Given the description of an element on the screen output the (x, y) to click on. 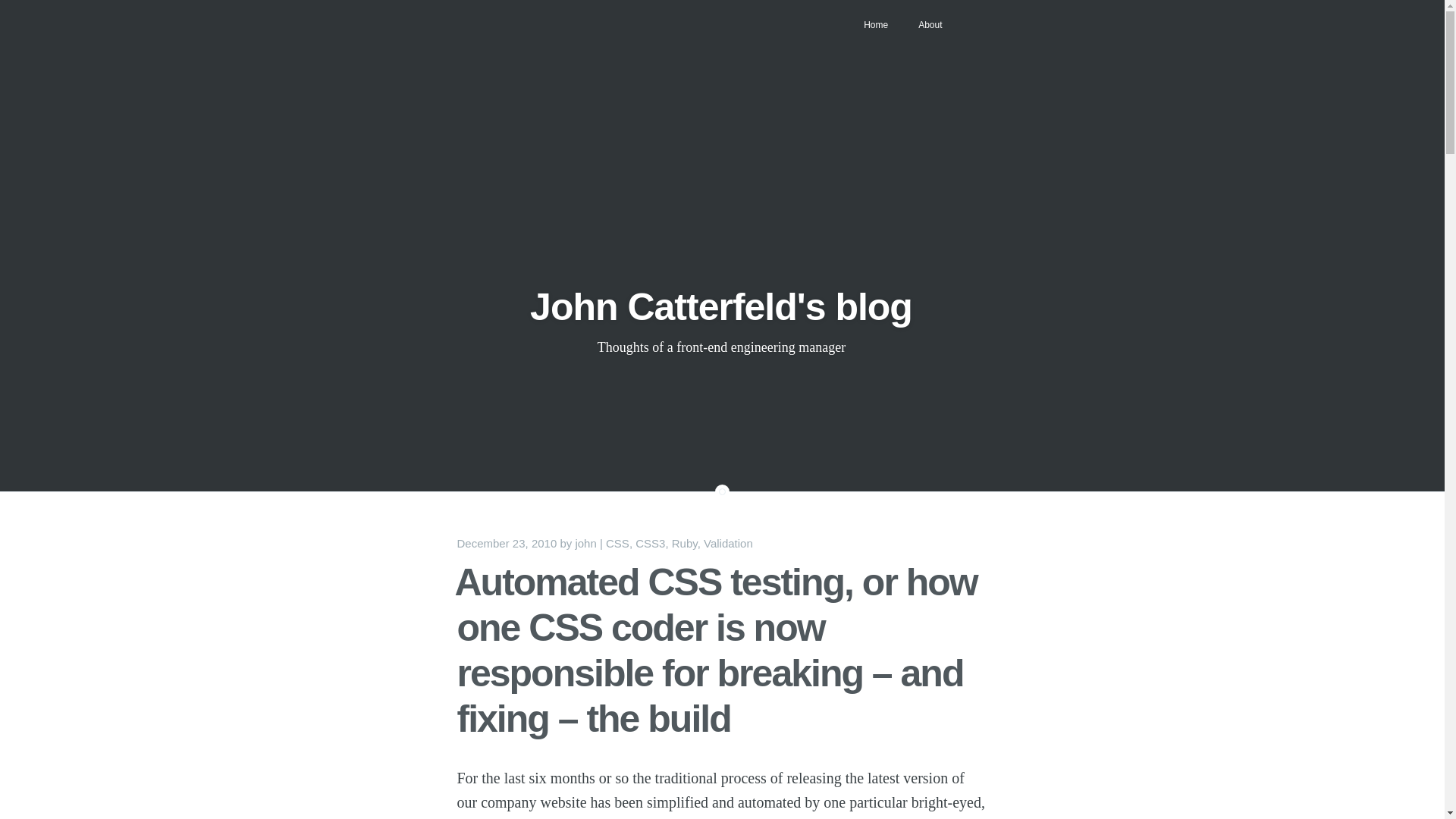
John Catterfeld's blog (720, 306)
Validation (727, 543)
December 23, 2010 (506, 543)
CSS3 (649, 543)
Search (24, 9)
Home (875, 24)
CSS (616, 543)
john (585, 543)
About (929, 24)
Ruby (684, 543)
